Given the description of an element on the screen output the (x, y) to click on. 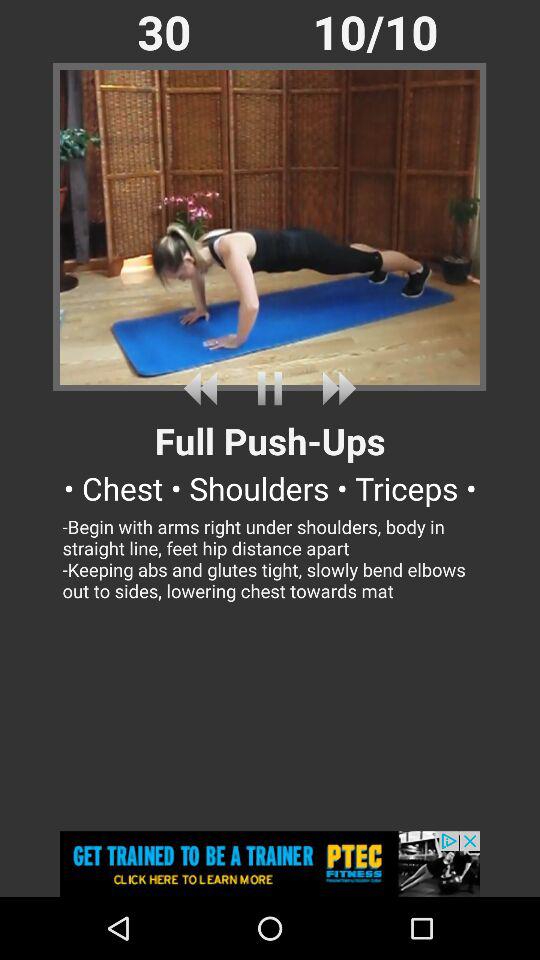
see advertisement (270, 864)
